Given the description of an element on the screen output the (x, y) to click on. 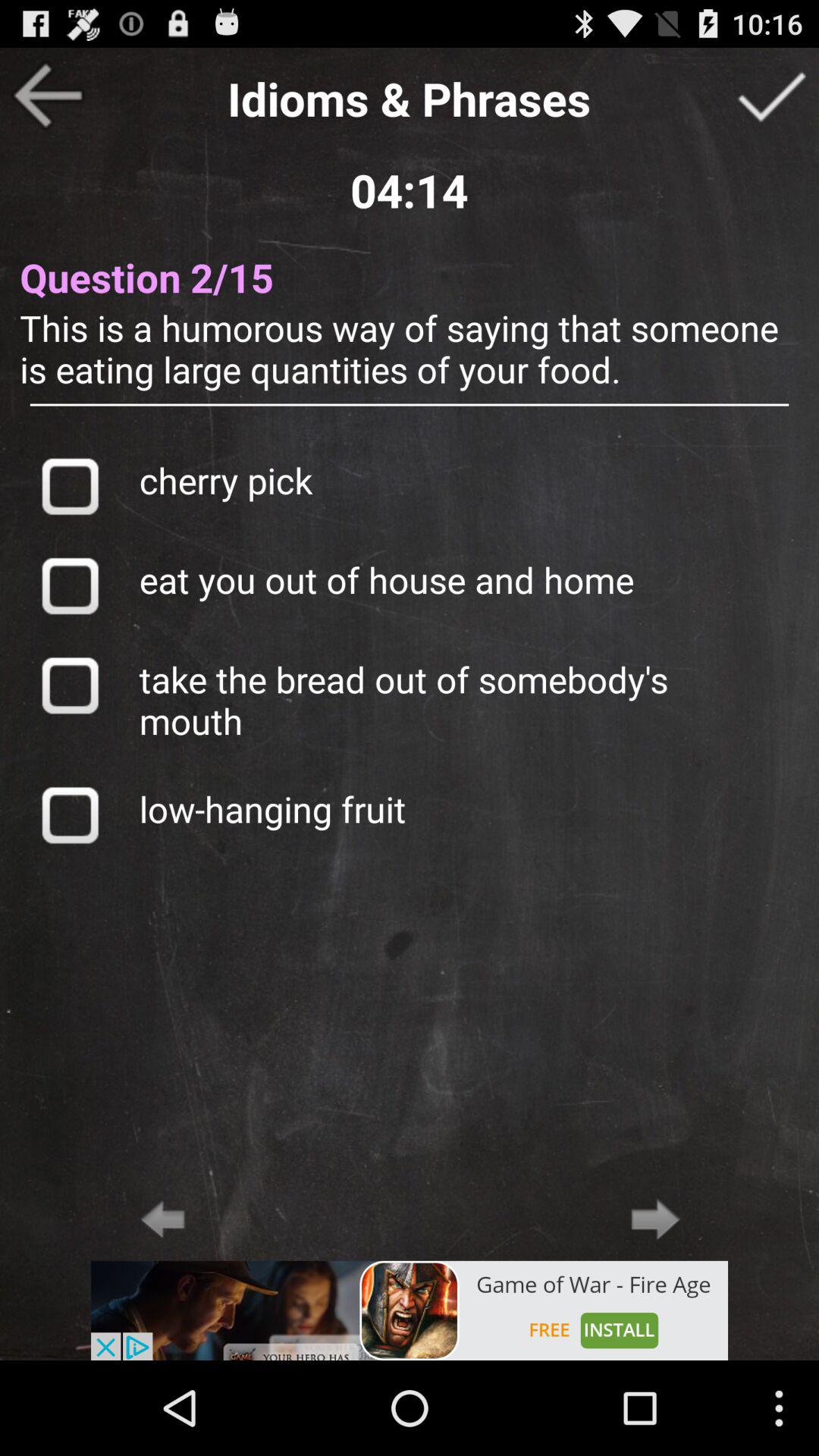
select button (69, 684)
